Given the description of an element on the screen output the (x, y) to click on. 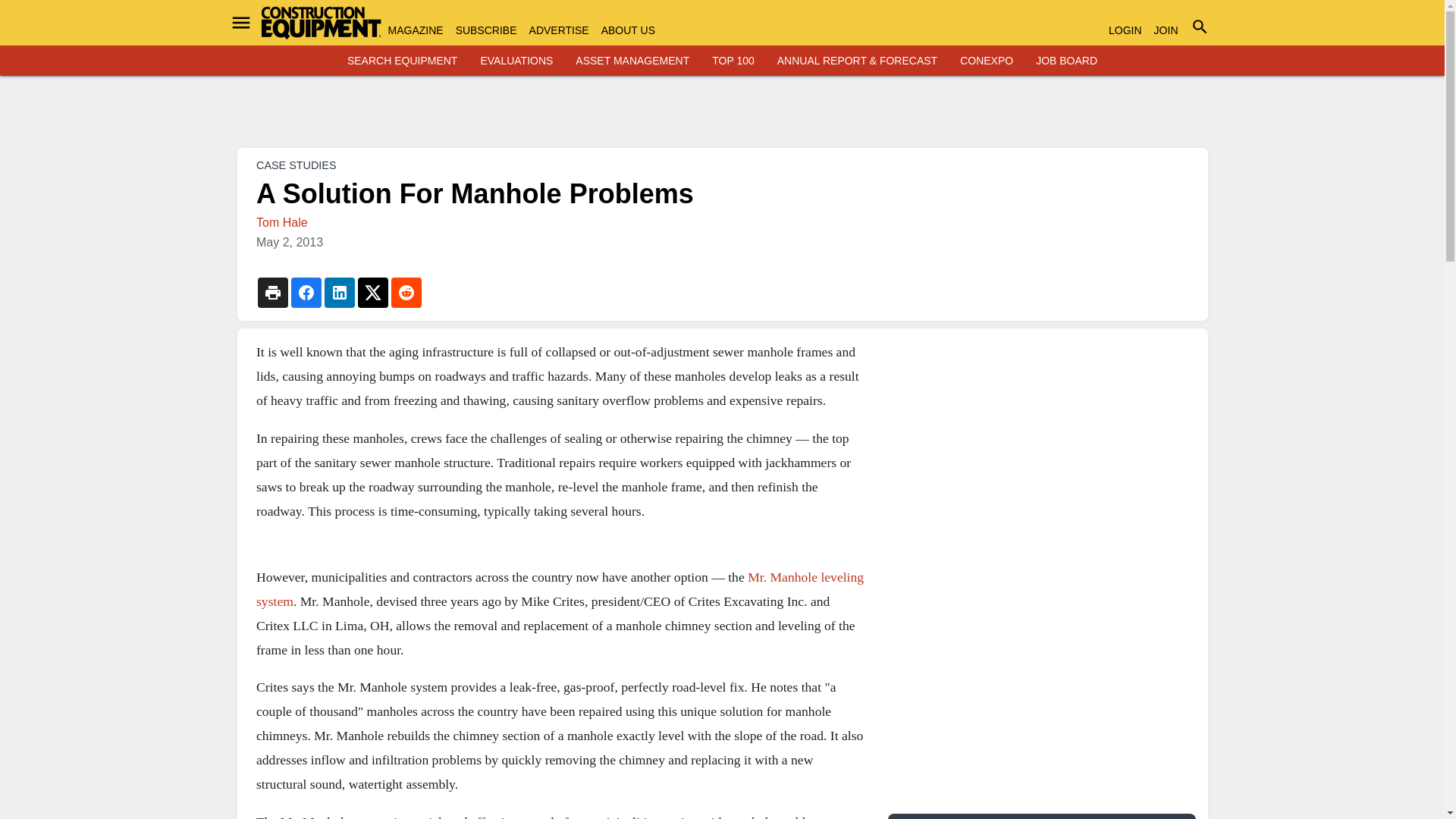
TOP 100 (732, 60)
LOGIN (1124, 30)
JOB BOARD (1066, 60)
CONEXPO (986, 60)
ADVERTISE (559, 30)
MAGAZINE (416, 30)
JOIN (1165, 30)
EVALUATIONS (516, 60)
SEARCH EQUIPMENT (402, 60)
ASSET MANAGEMENT (631, 60)
